Given the description of an element on the screen output the (x, y) to click on. 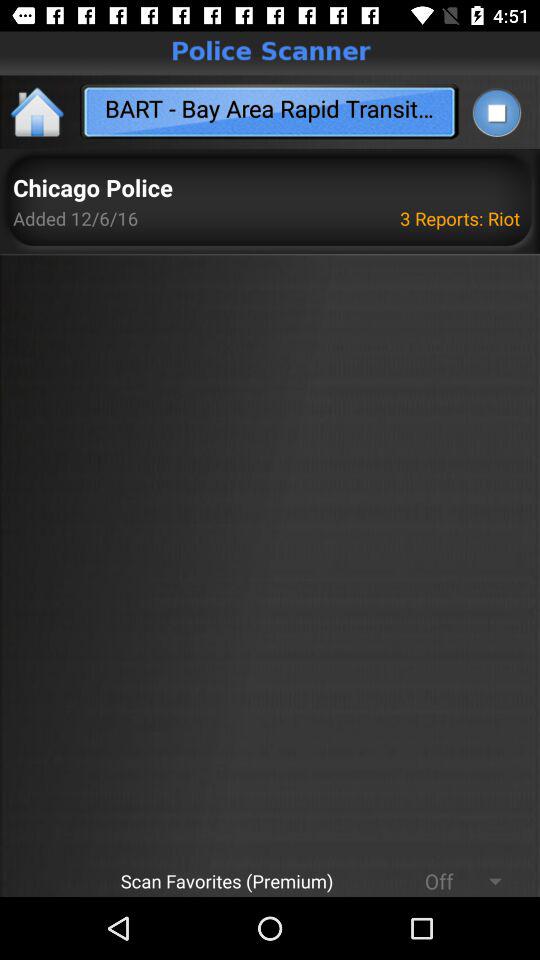
tap the item next to 3 reports: riot item (92, 188)
